Given the description of an element on the screen output the (x, y) to click on. 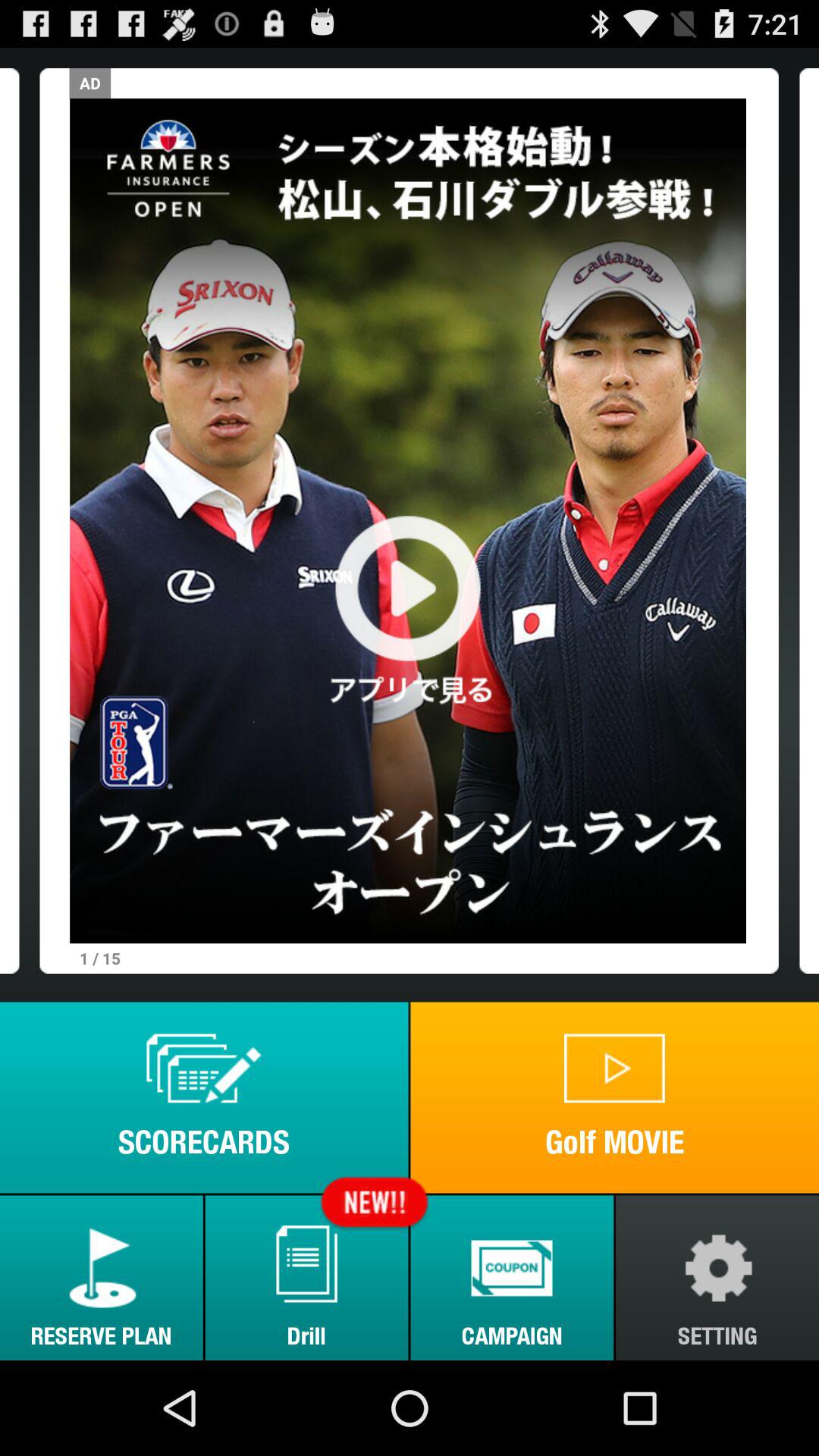
press the button next to the campaign item (306, 1277)
